Given the description of an element on the screen output the (x, y) to click on. 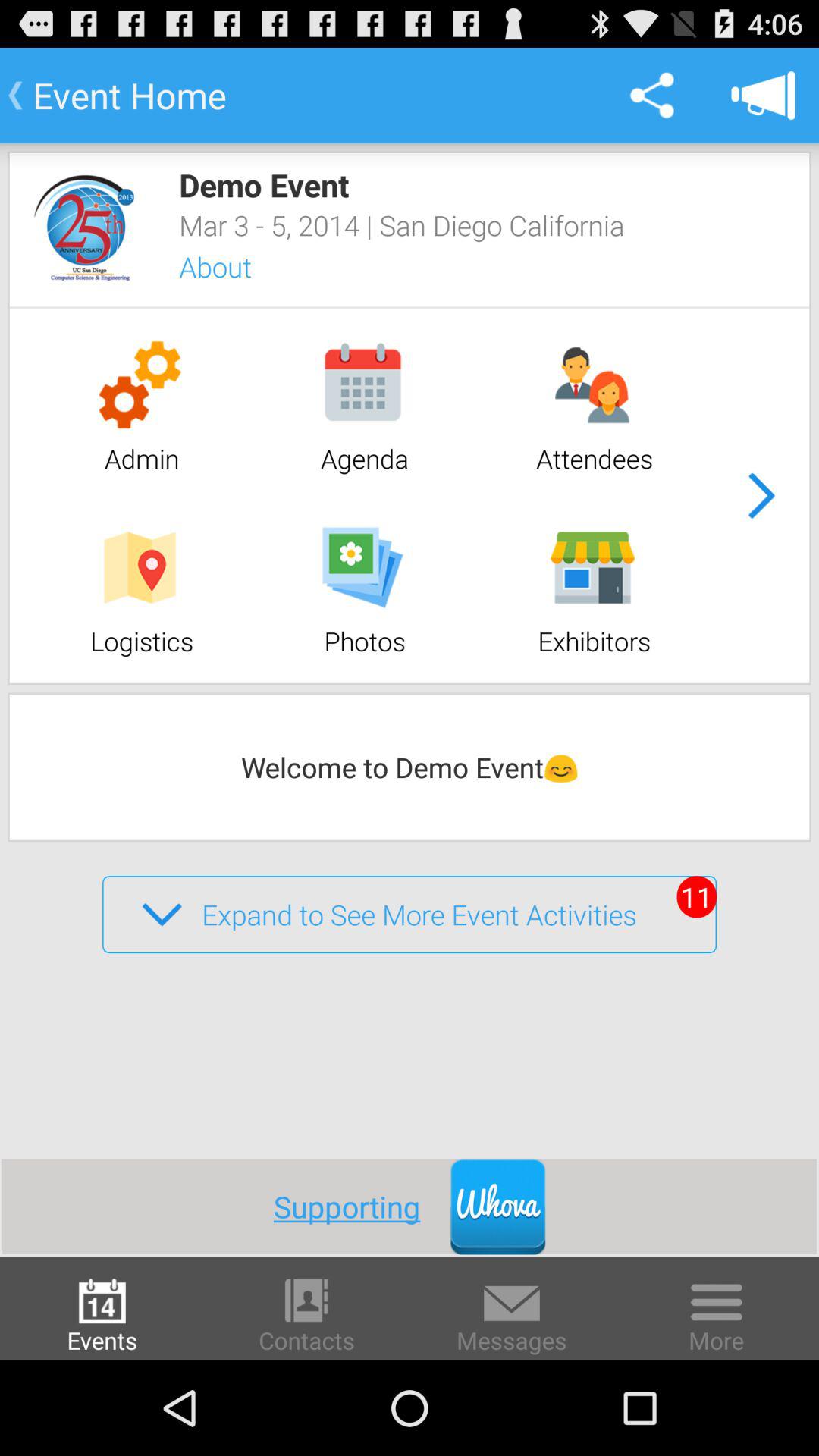
go forward (761, 495)
